Given the description of an element on the screen output the (x, y) to click on. 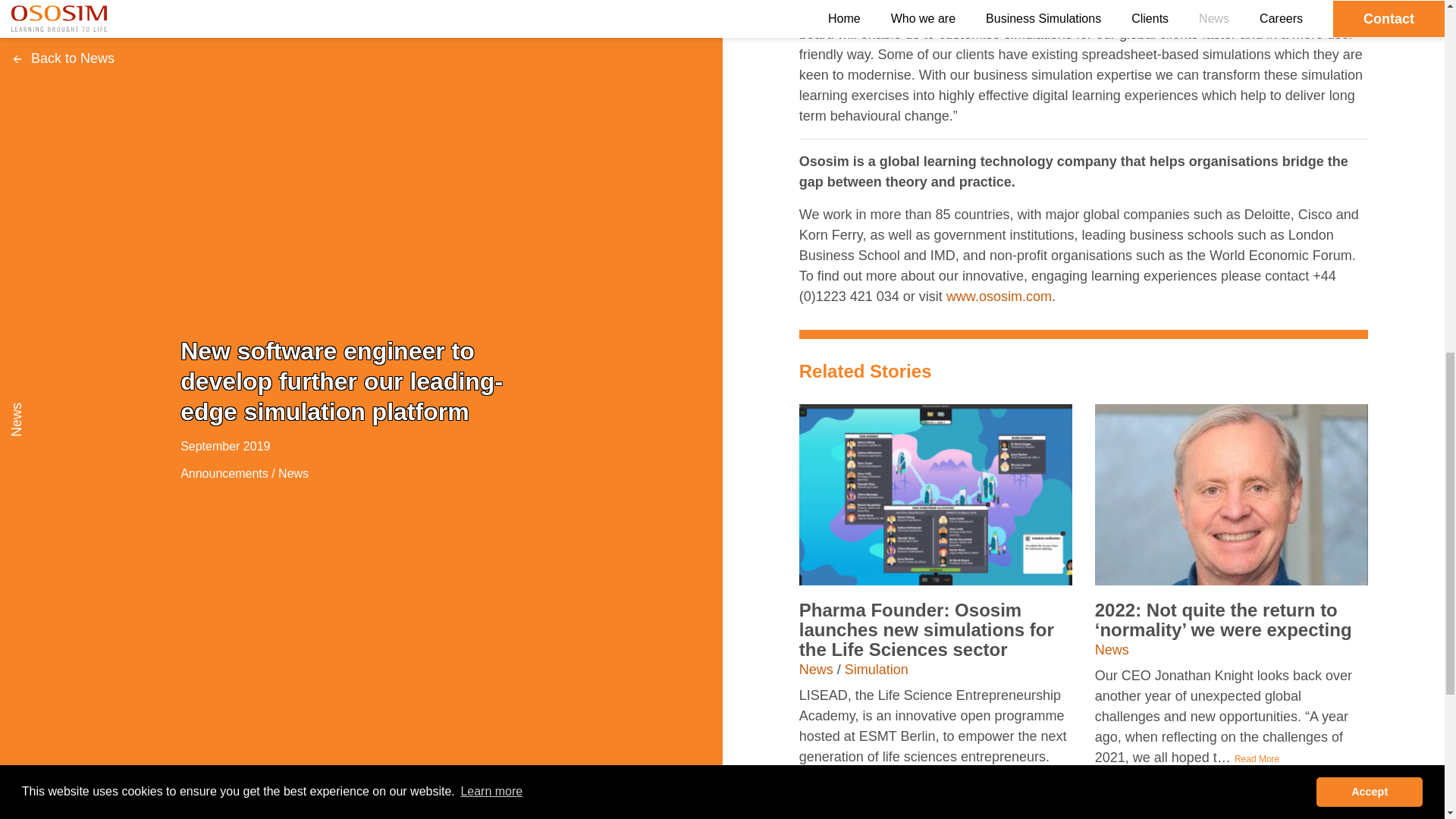
www.ososim.com (998, 296)
Read More (1256, 758)
News (815, 669)
News (1111, 649)
Read More (911, 778)
Simulation (876, 669)
